Given the description of an element on the screen output the (x, y) to click on. 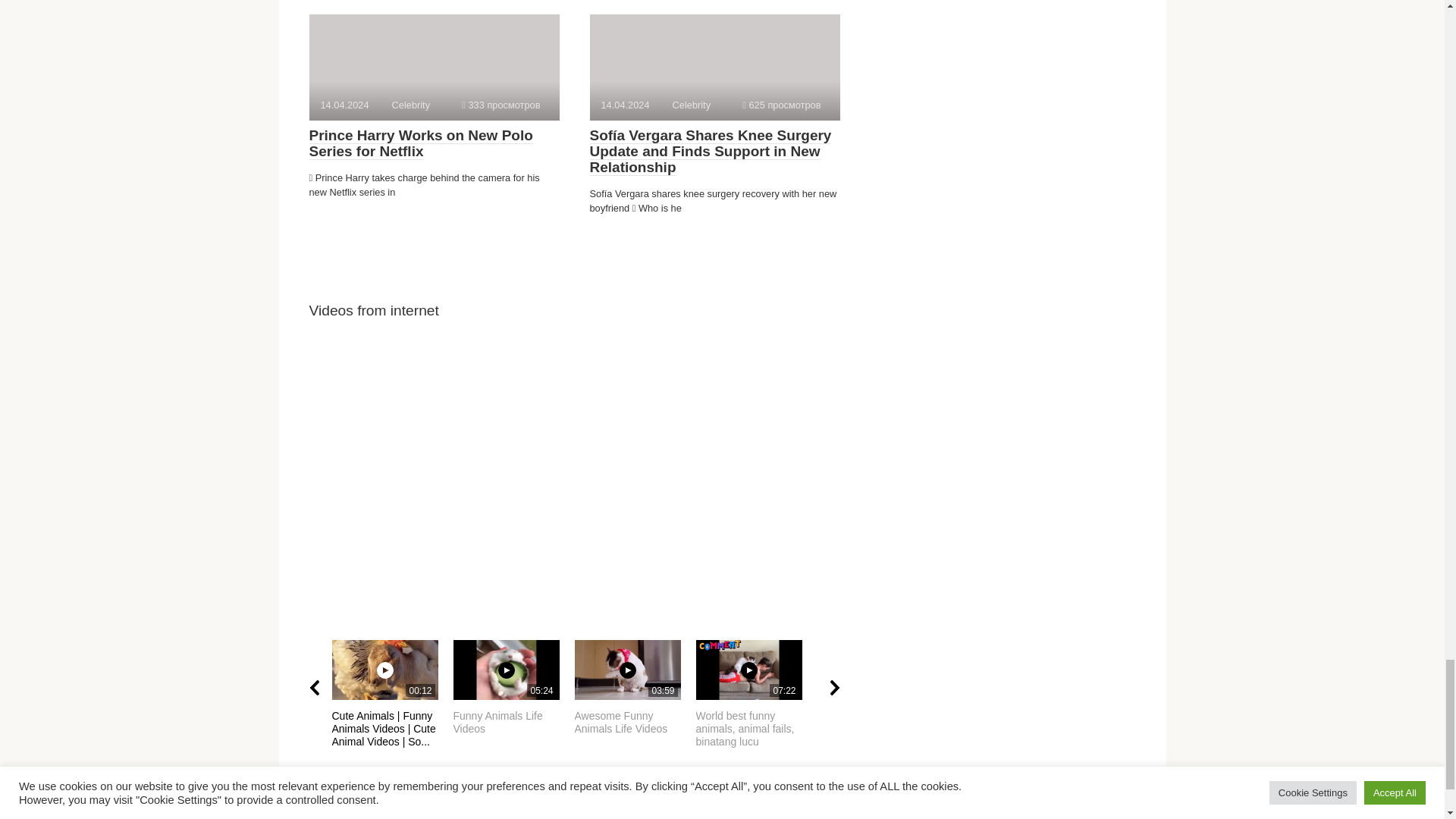
Prince Harry Works on New Polo Series for Netflix (420, 143)
Views (500, 104)
Views (781, 104)
